Given the description of an element on the screen output the (x, y) to click on. 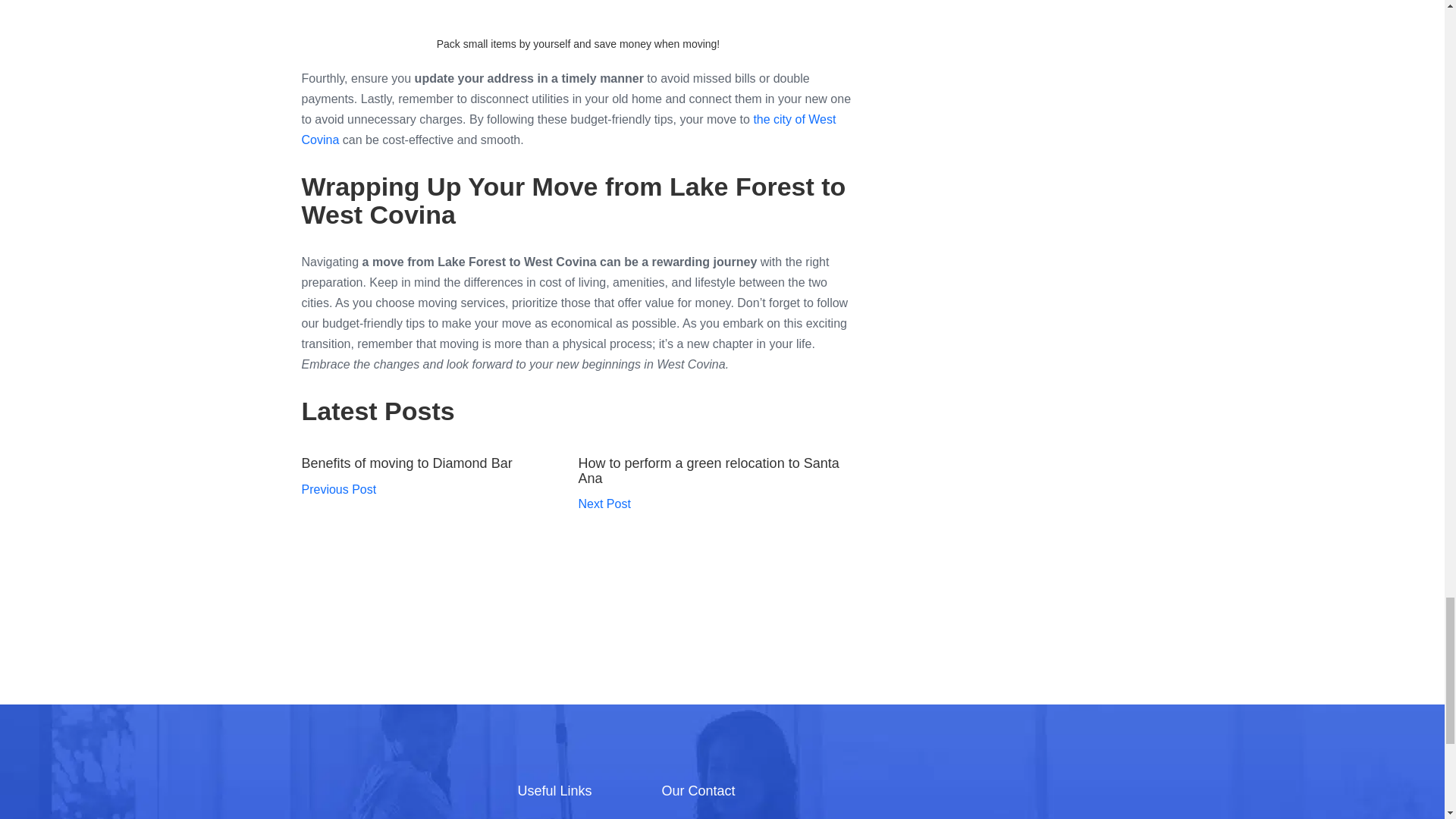
Next Post (604, 503)
the city of West Covina (568, 129)
Previous Post (339, 489)
